Given the description of an element on the screen output the (x, y) to click on. 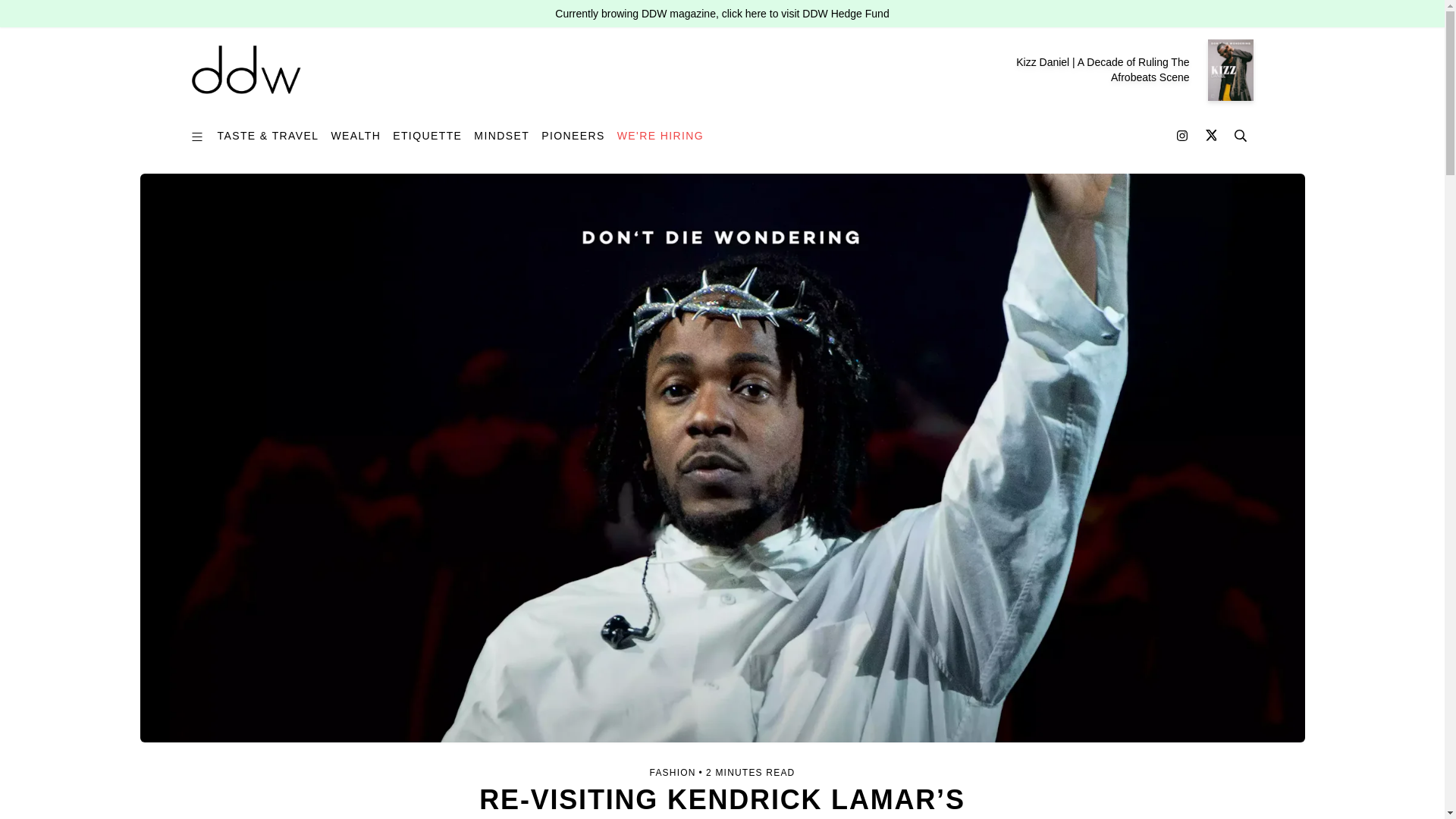
FASHION (672, 772)
